Given the description of an element on the screen output the (x, y) to click on. 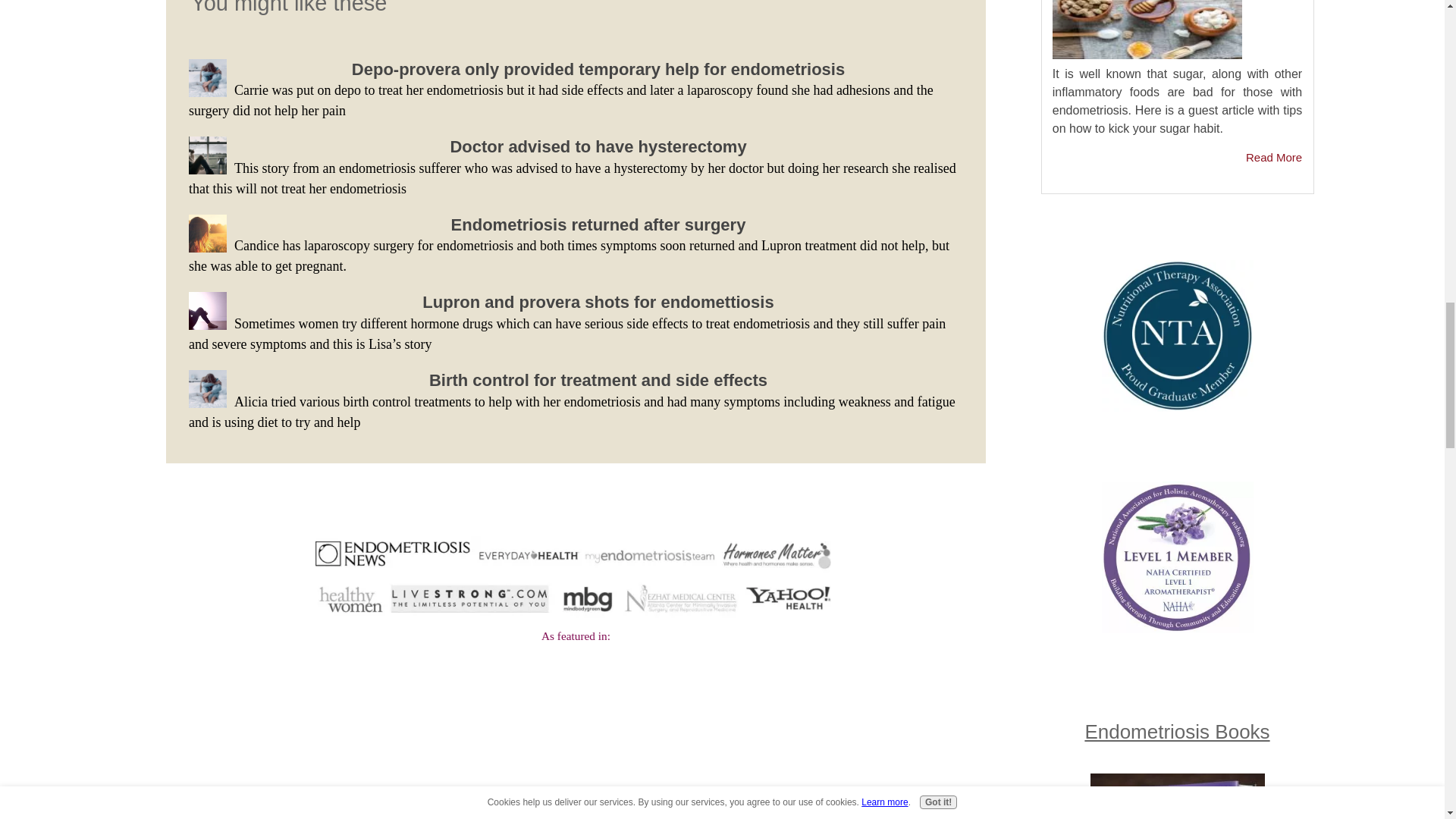
Lupron and provera shots for endomettiosis (597, 302)
Doctor advised to have hysterectomy (597, 146)
Birth control for treatment and side effects (598, 380)
Depo-provera only provided temporary help for endometriosis (598, 68)
Endometriosis returned after surgery (598, 224)
